Given the description of an element on the screen output the (x, y) to click on. 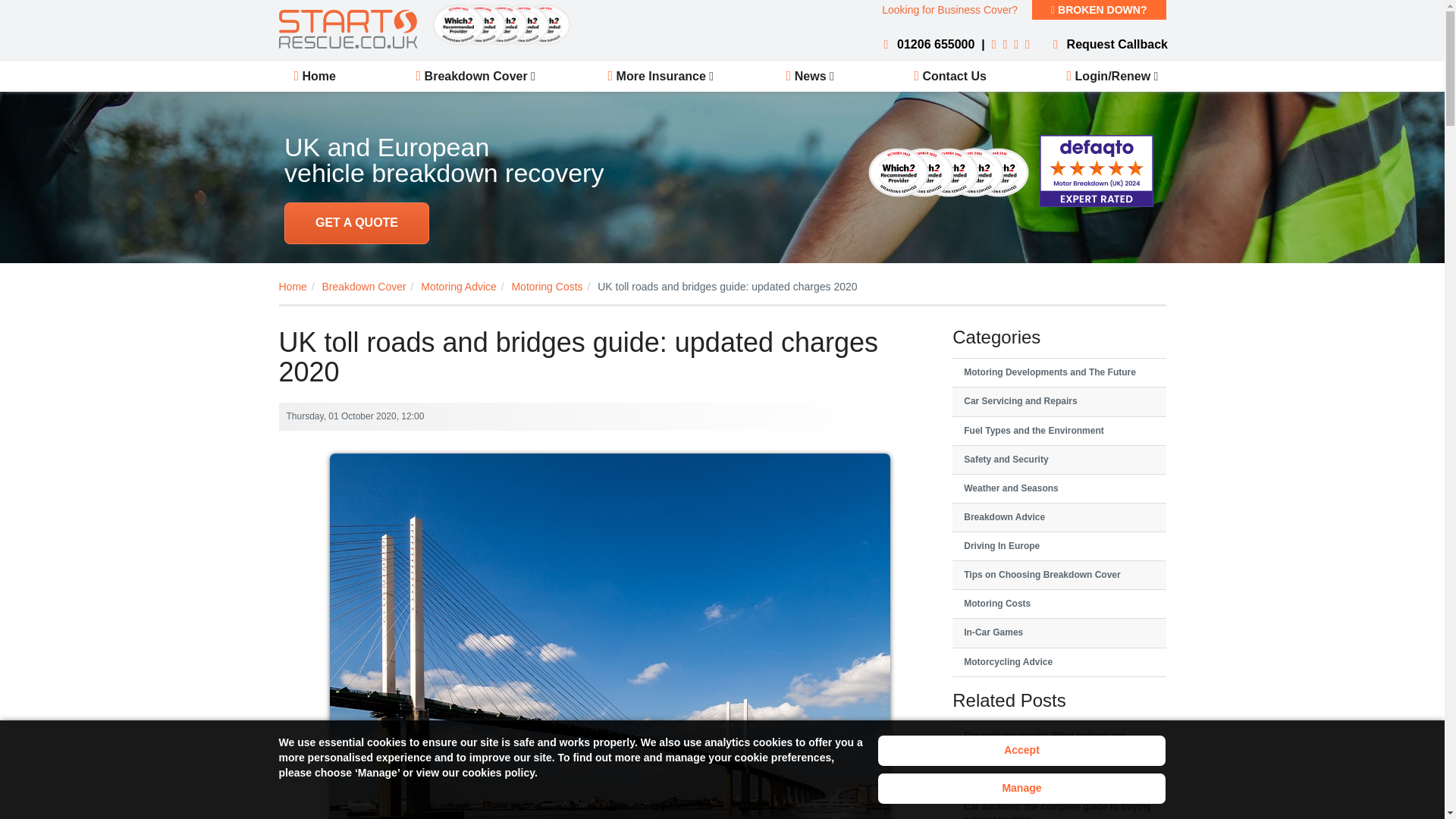
01206 655000 (925, 43)
BROKEN DOWN? (1099, 9)
Home (314, 76)
Looking for Business Cover? (949, 9)
Request Callback (1107, 43)
Contact Us (948, 76)
